Given the description of an element on the screen output the (x, y) to click on. 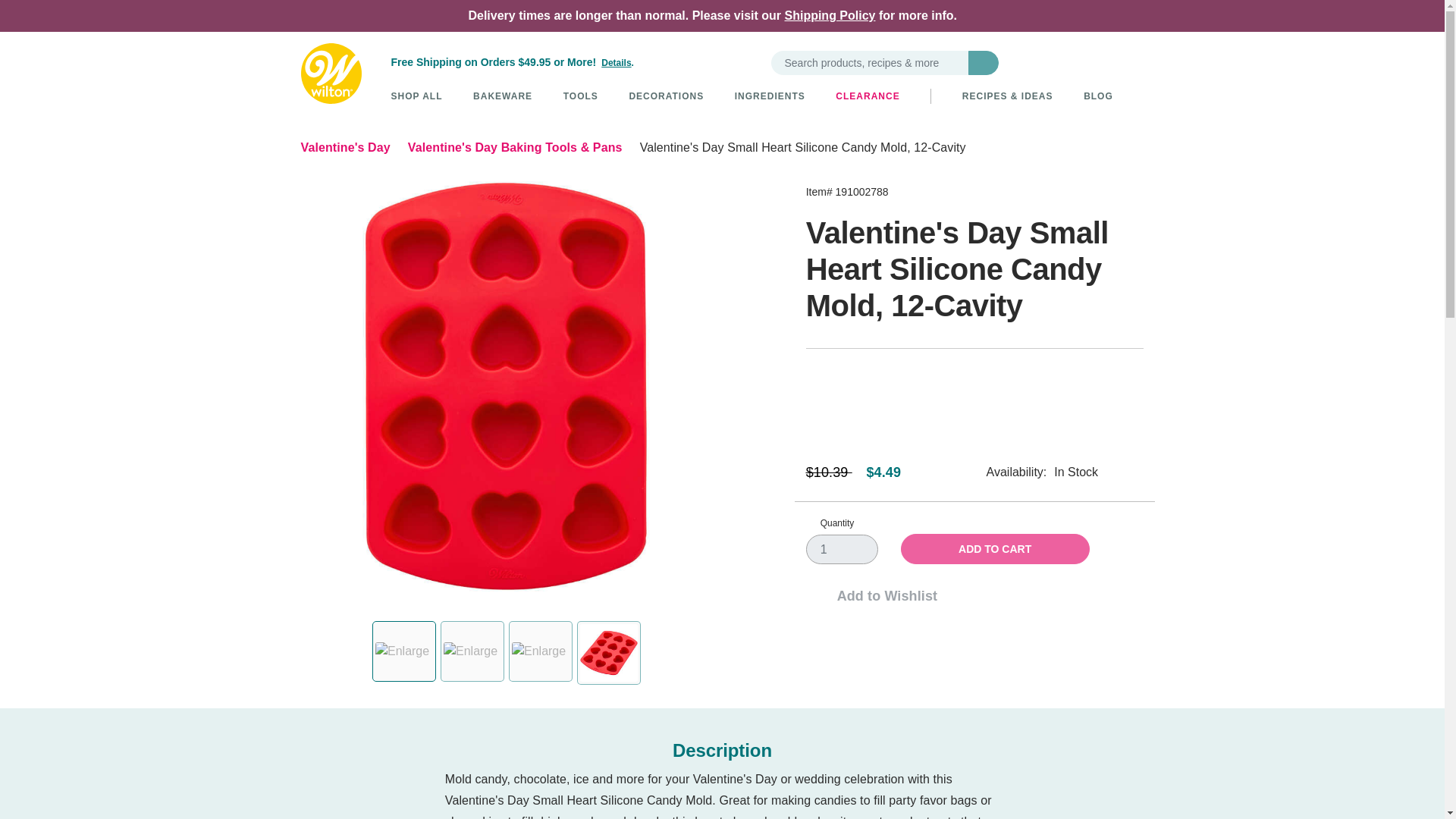
Log in (1083, 62)
Details. (617, 62)
BAKEWARE (502, 96)
Log in (1083, 62)
Go to shipping details (617, 62)
View Cart (1132, 62)
